Given the description of an element on the screen output the (x, y) to click on. 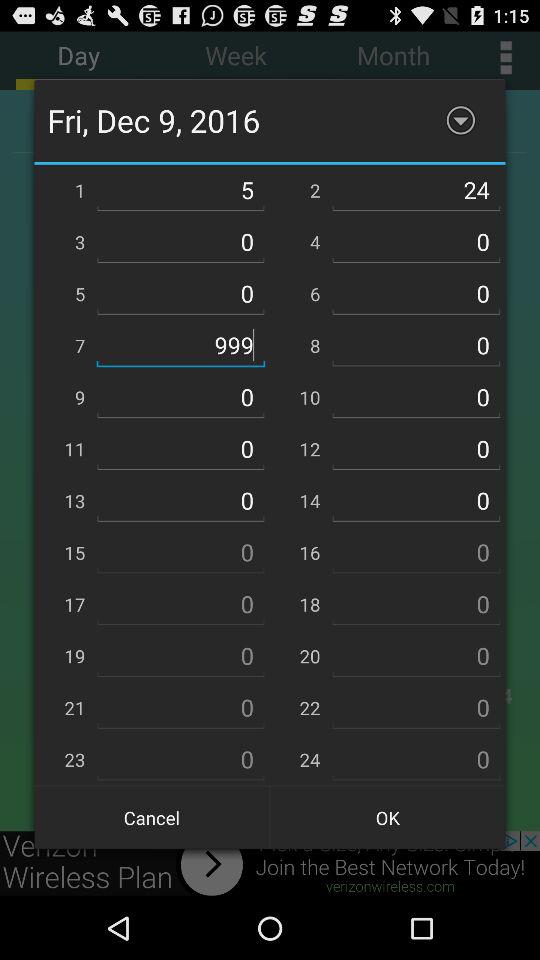
minimize (460, 119)
